Given the description of an element on the screen output the (x, y) to click on. 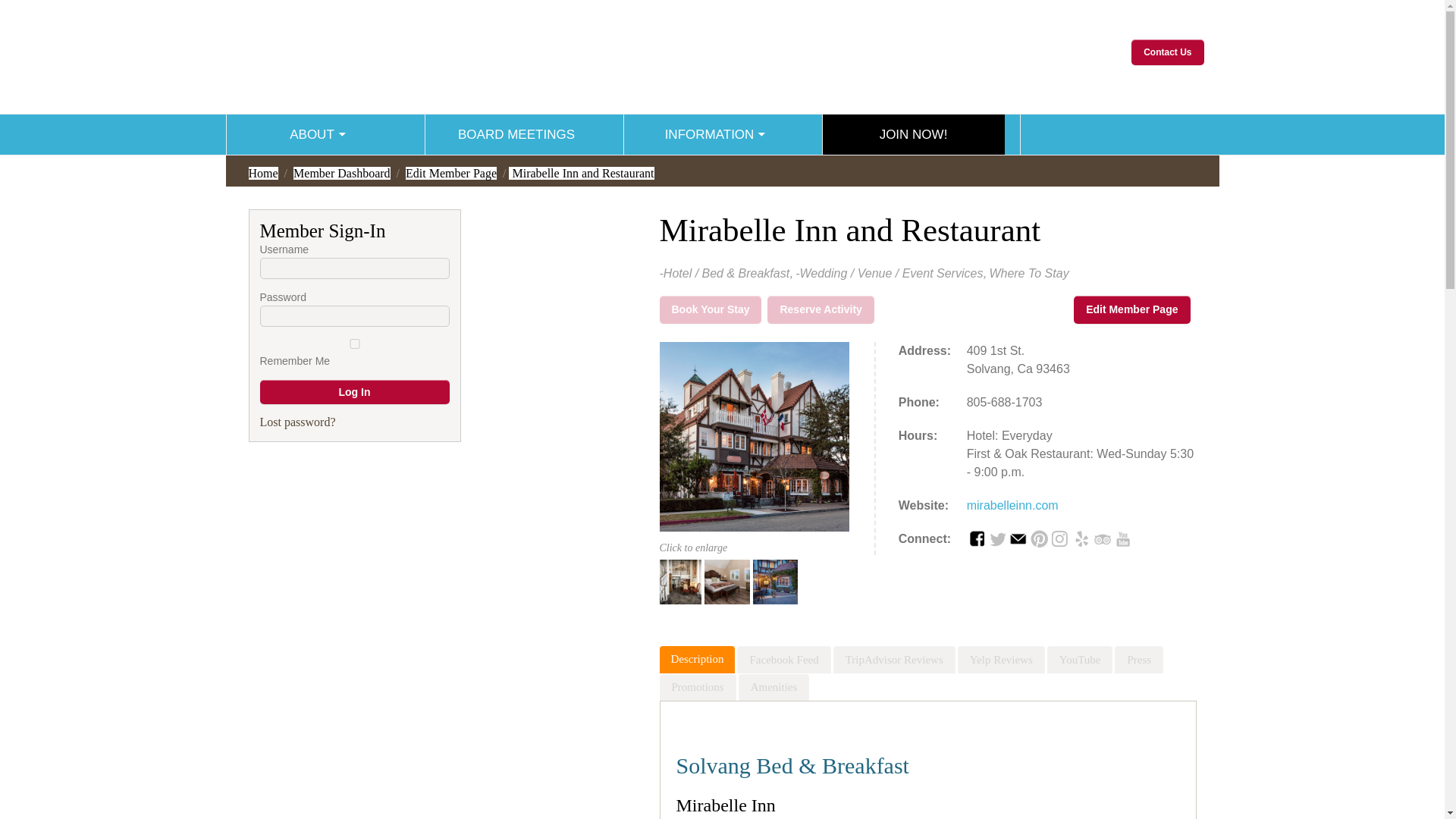
Click here to go to your Member Page and add your Twitter! (997, 538)
Press Materials (716, 282)
Visit Santa Ynez Valley Members (580, 48)
Edit Member Page (451, 173)
Email (1017, 538)
Facebook (975, 538)
forever (353, 343)
INFORMATION (714, 134)
Information on SYV (716, 185)
Facebook (975, 538)
Instagram (1059, 538)
Reserve Activity (820, 309)
Contact Us (1167, 52)
ABOUT (317, 134)
